Given the description of an element on the screen output the (x, y) to click on. 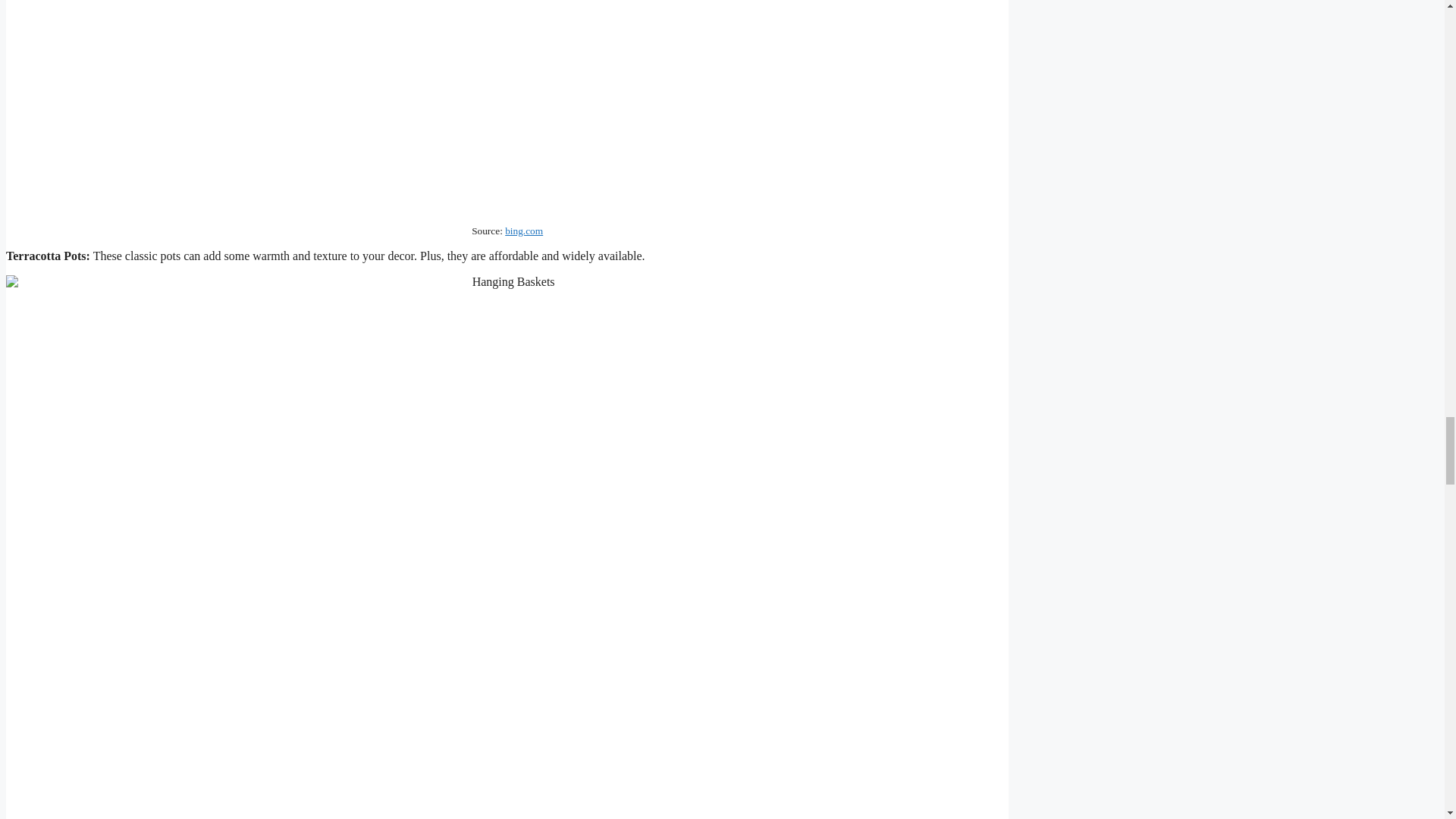
bing.com (524, 230)
